Given the description of an element on the screen output the (x, y) to click on. 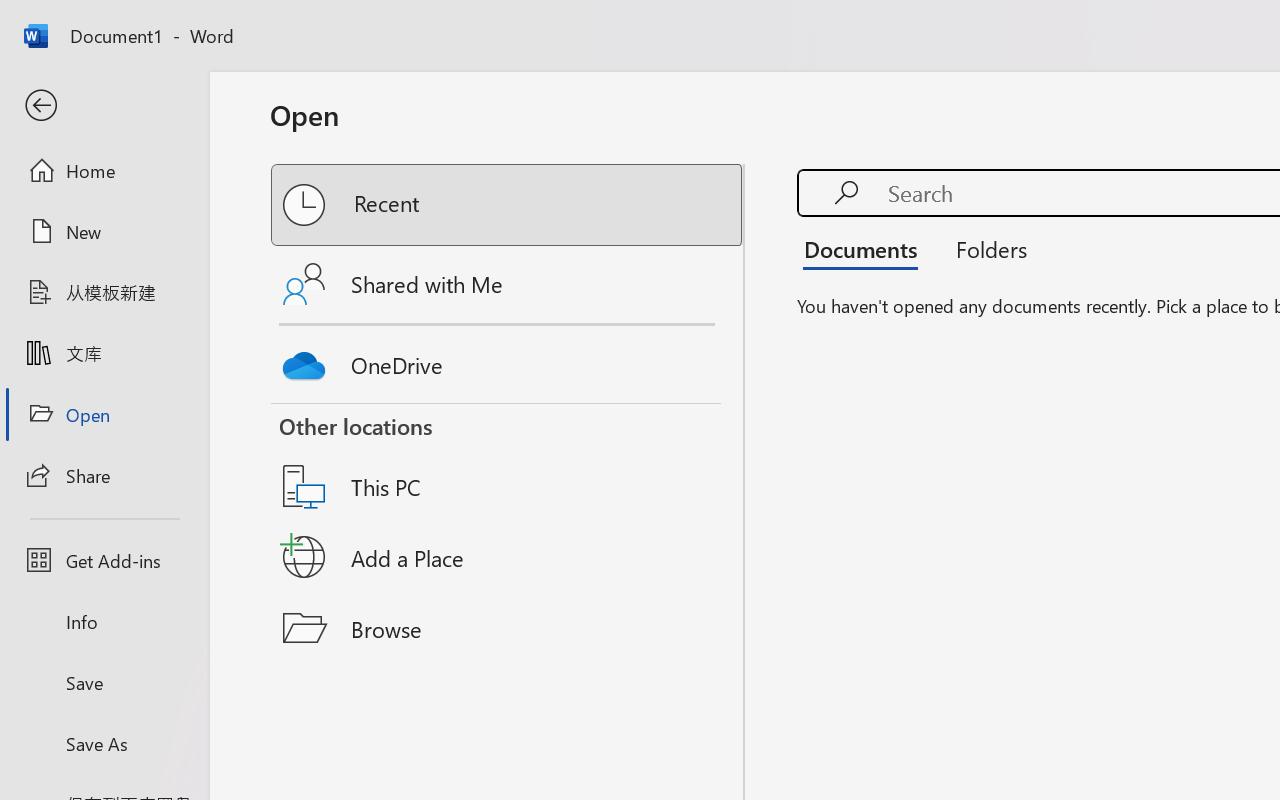
Shared with Me (507, 283)
Recent (507, 205)
Add a Place (507, 557)
OneDrive (507, 359)
Browse (507, 627)
This PC (507, 461)
